Given the description of an element on the screen output the (x, y) to click on. 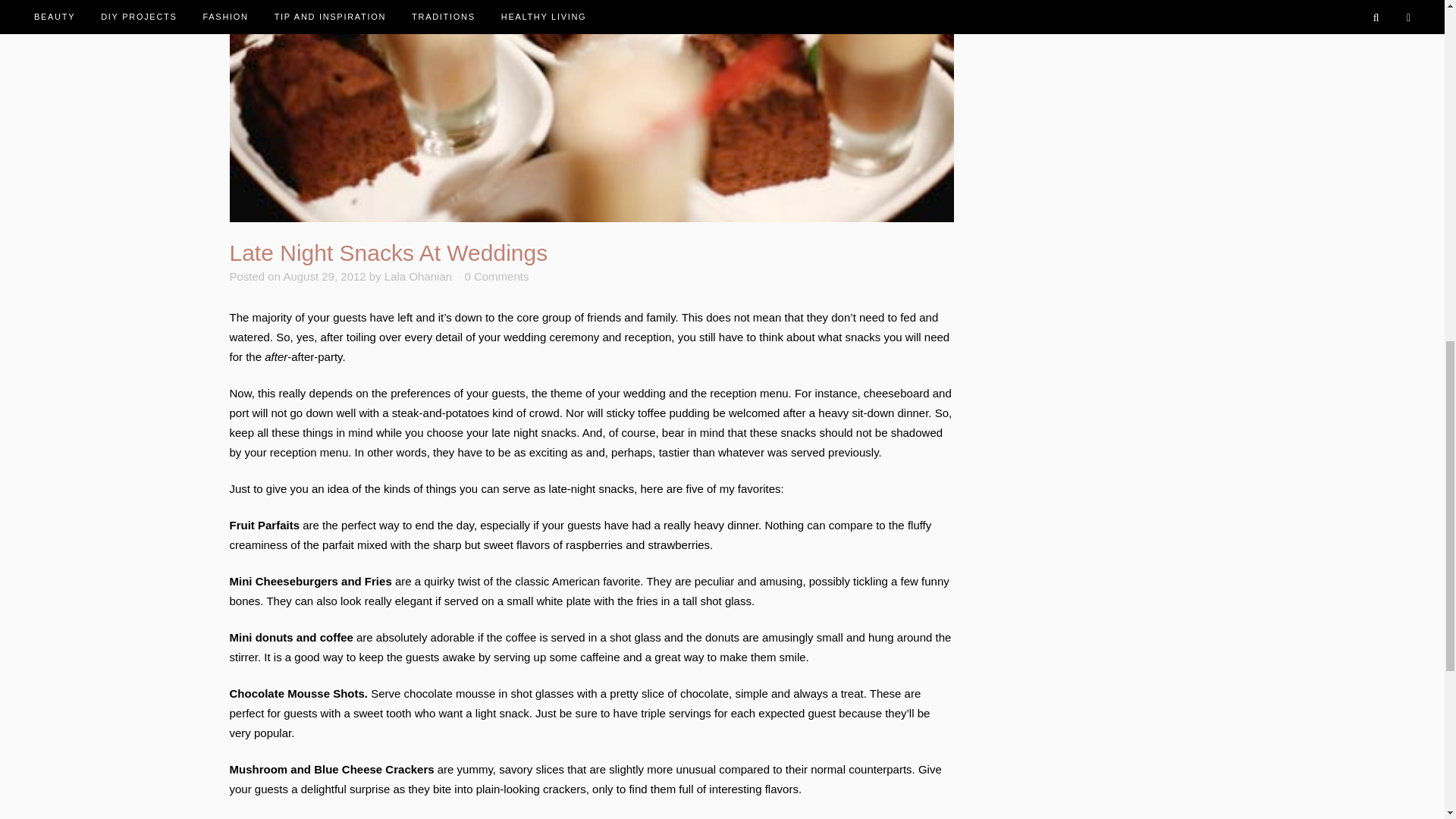
Lala Ohanian (417, 276)
0 Comments (496, 276)
